Given the description of an element on the screen output the (x, y) to click on. 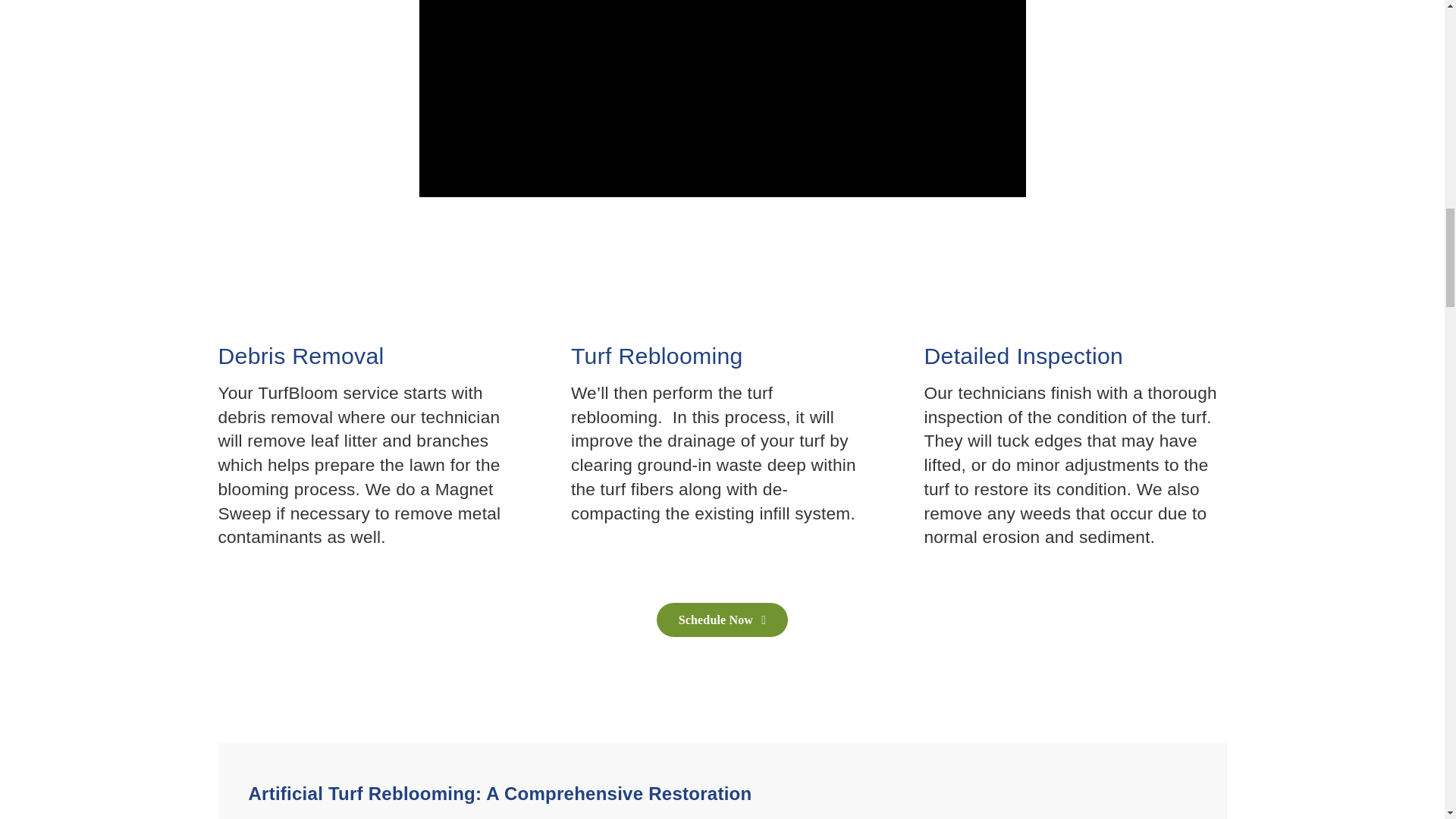
YouTube video player 1 (722, 98)
iconbar-02 (683, 307)
iconbar-03 (1037, 307)
iconbar-01 (330, 307)
